Given the description of an element on the screen output the (x, y) to click on. 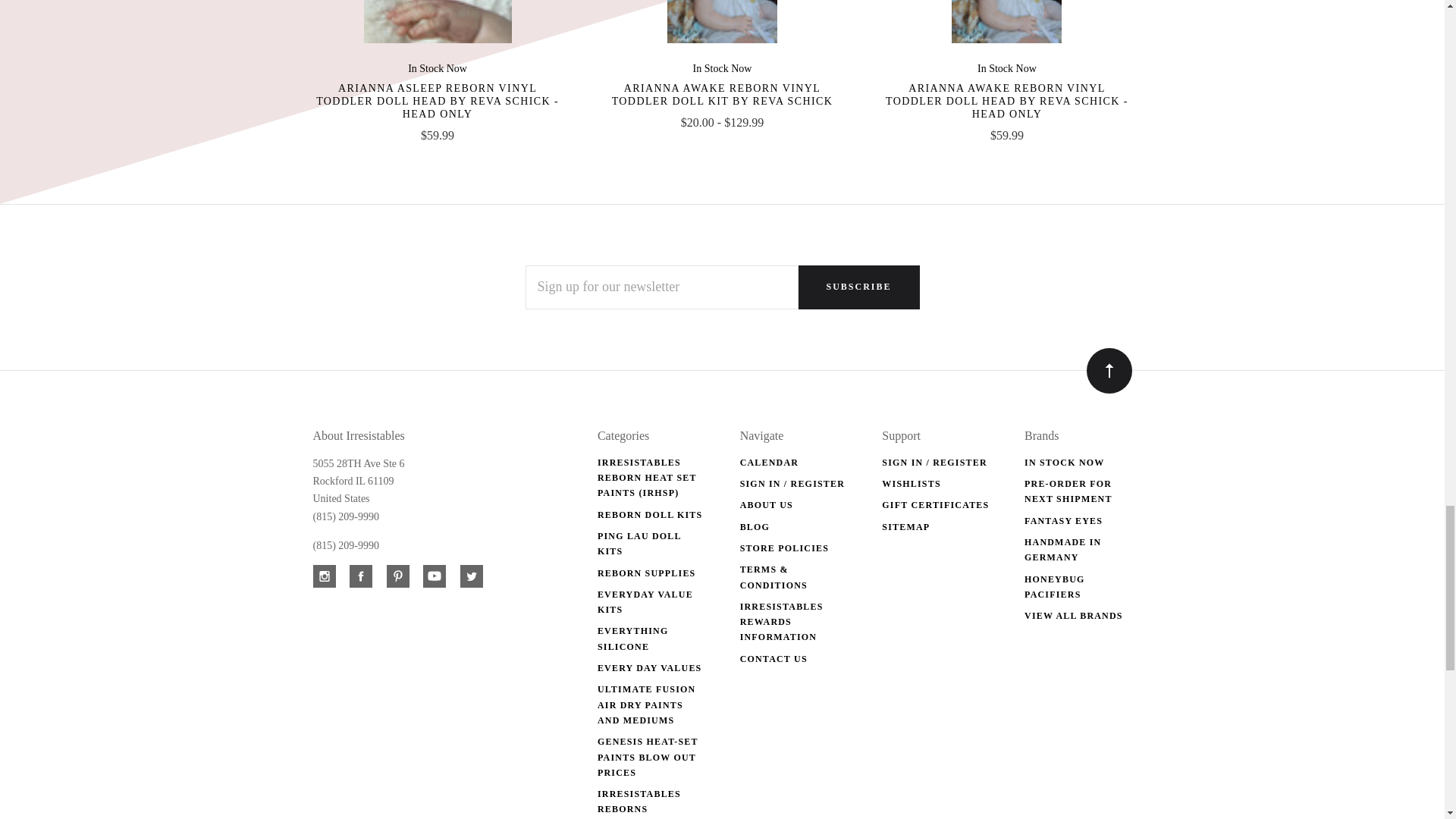
Arianna Awake Reborn Vinyl Toddler Doll Kit by Reva Schick (721, 94)
Arianna Awake Reborn Vinyl Toddler Doll Kit by Reva Schick (721, 21)
Subscribe (857, 287)
